Given the description of an element on the screen output the (x, y) to click on. 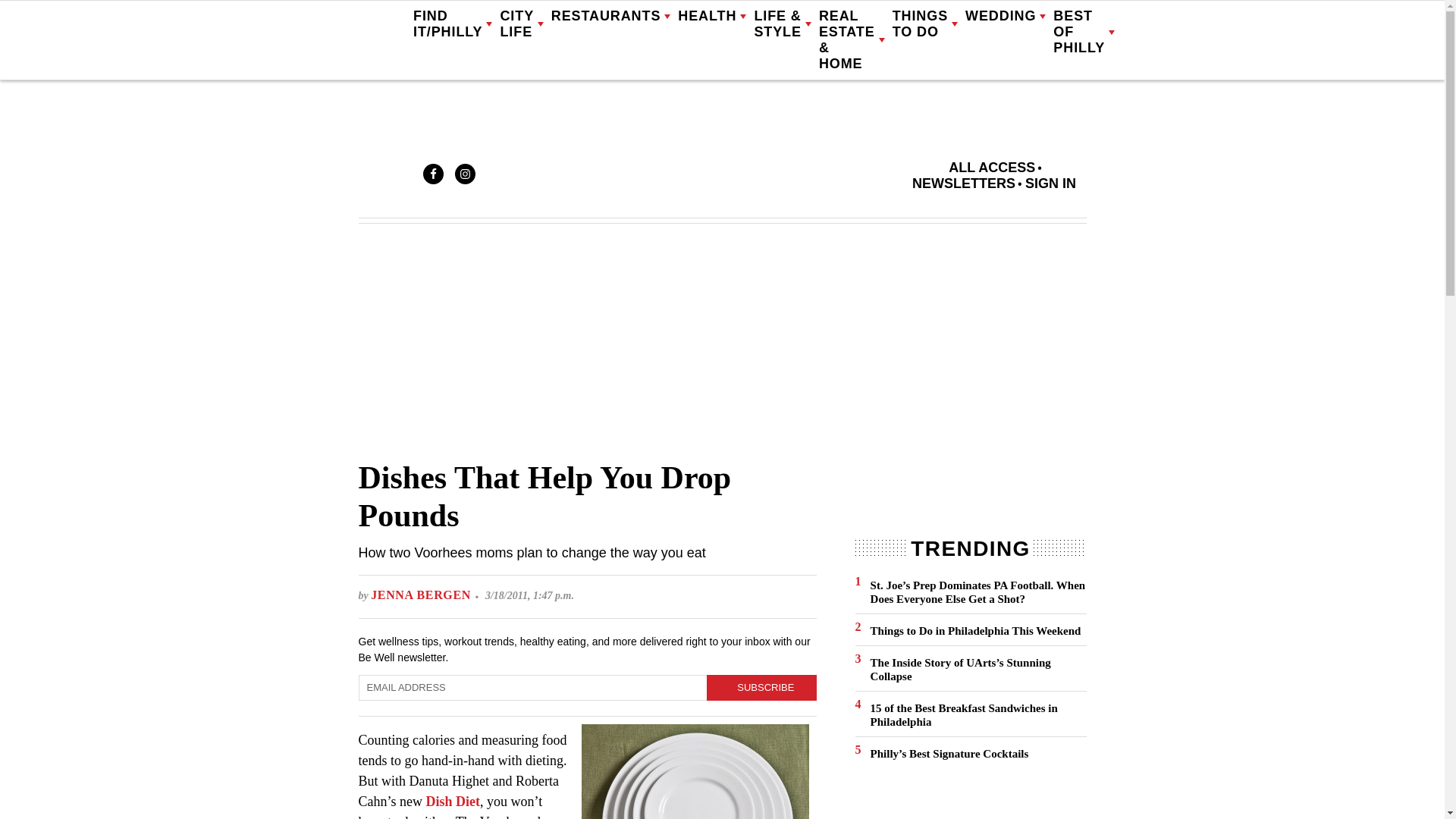
RESTAURANTS (611, 15)
THINGS TO DO (925, 23)
3rd party ad content (969, 487)
3rd party ad content (969, 800)
BEST OF PHILLY (1083, 31)
WEDDING (1005, 15)
Subscribe (761, 687)
HEALTH (711, 15)
CITY LIFE (521, 23)
